Given the description of an element on the screen output the (x, y) to click on. 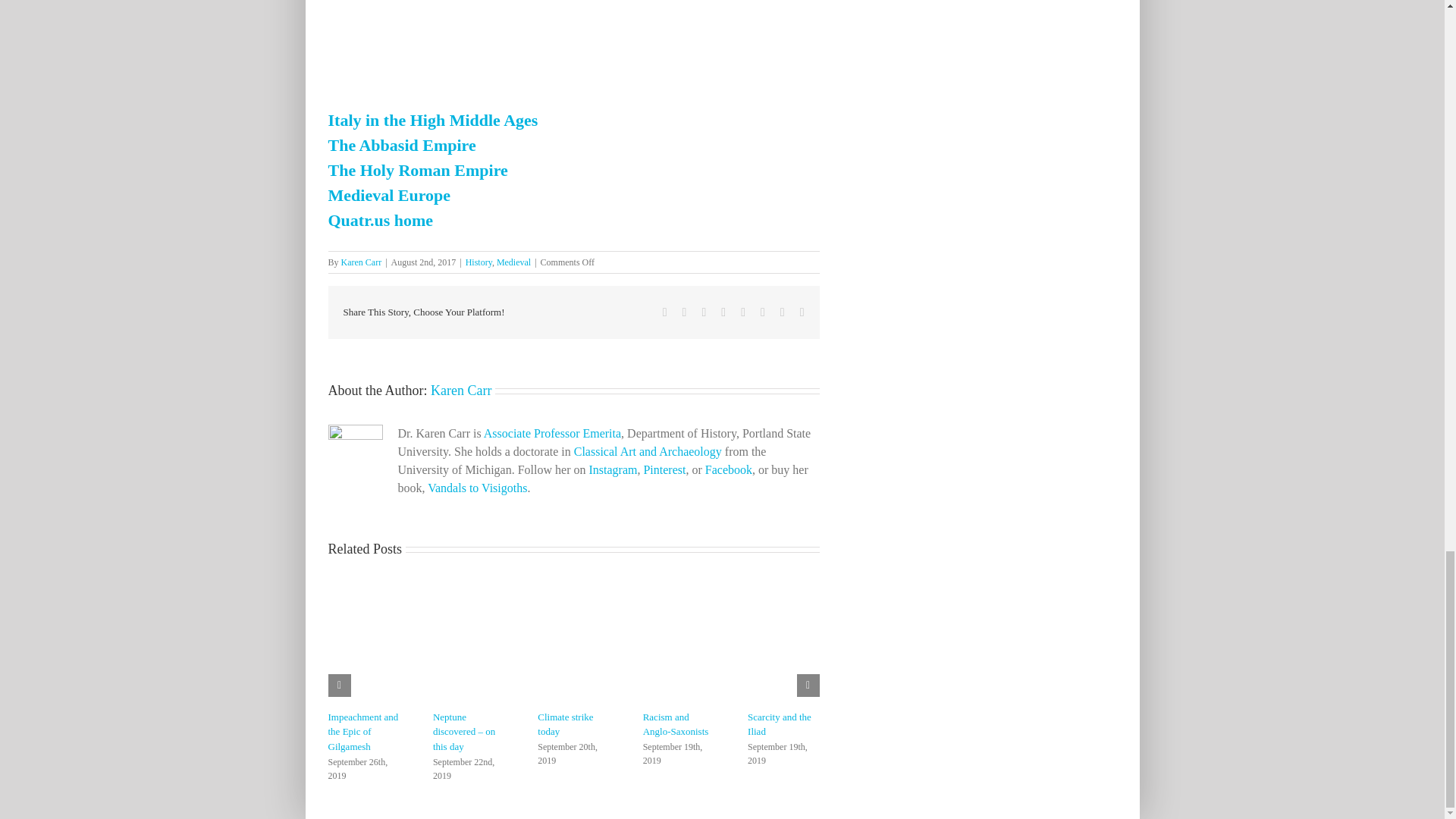
Climate strike today (564, 724)
Posts by Karen Carr (360, 262)
Impeachment and the Epic of Gilgamesh (362, 731)
Posts by Karen Carr (461, 390)
Scarcity and the Iliad (779, 724)
Racism and Anglo-Saxonists (676, 724)
